Given the description of an element on the screen output the (x, y) to click on. 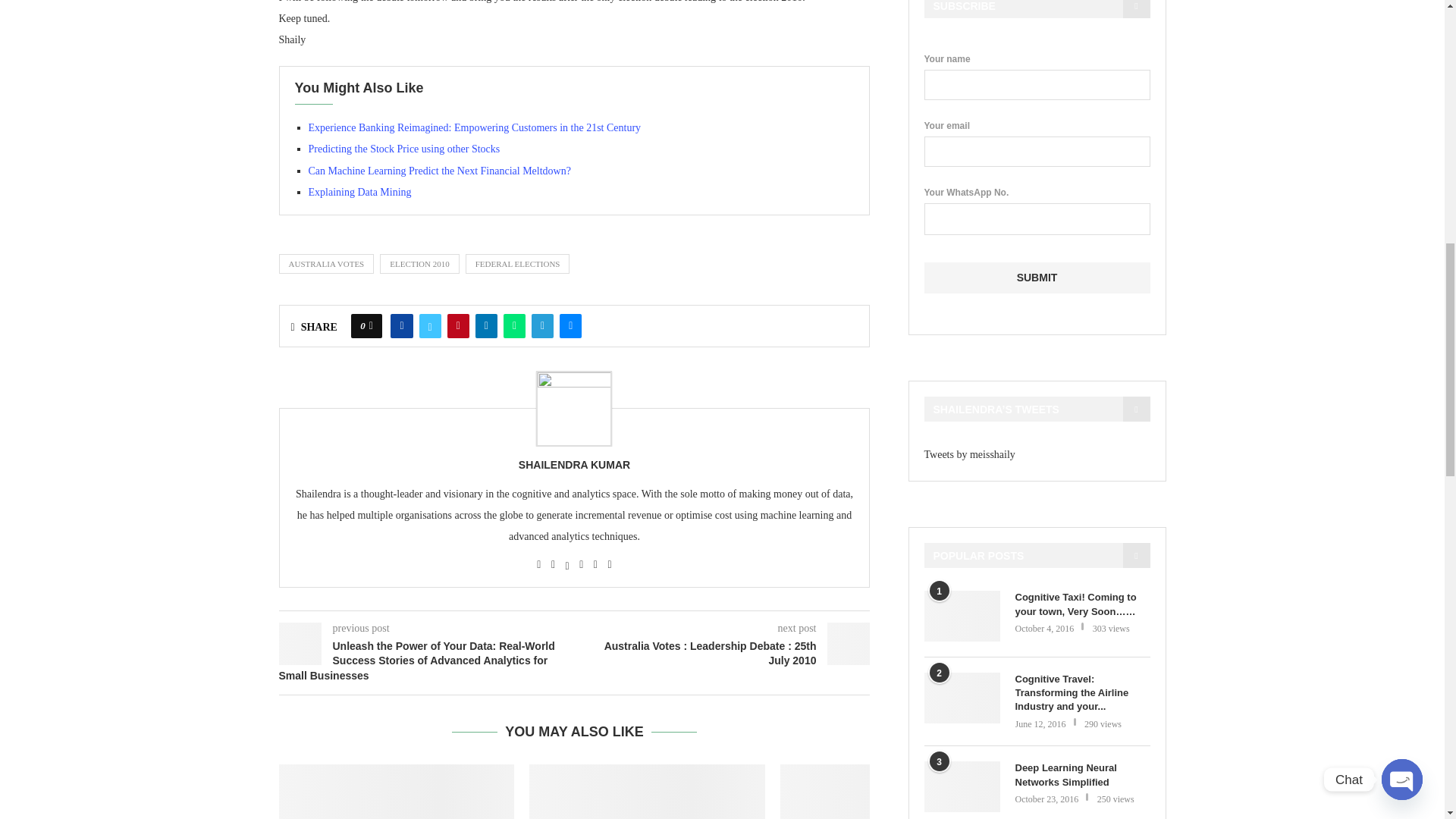
Predicting the Stock Price using other Stocks (403, 148)
AUSTRALIA VOTES (326, 263)
ELECTION 2010 (420, 263)
Can Machine Learning Predict the Next Financial Meltdown? (438, 170)
Like (370, 325)
Author Shailendra Kumar (574, 464)
FEDERAL ELECTIONS (517, 263)
Net Promoter Score: How to Calculate Your NPS (647, 791)
Explaining Data Mining (358, 192)
Submit (1036, 277)
